Given the description of an element on the screen output the (x, y) to click on. 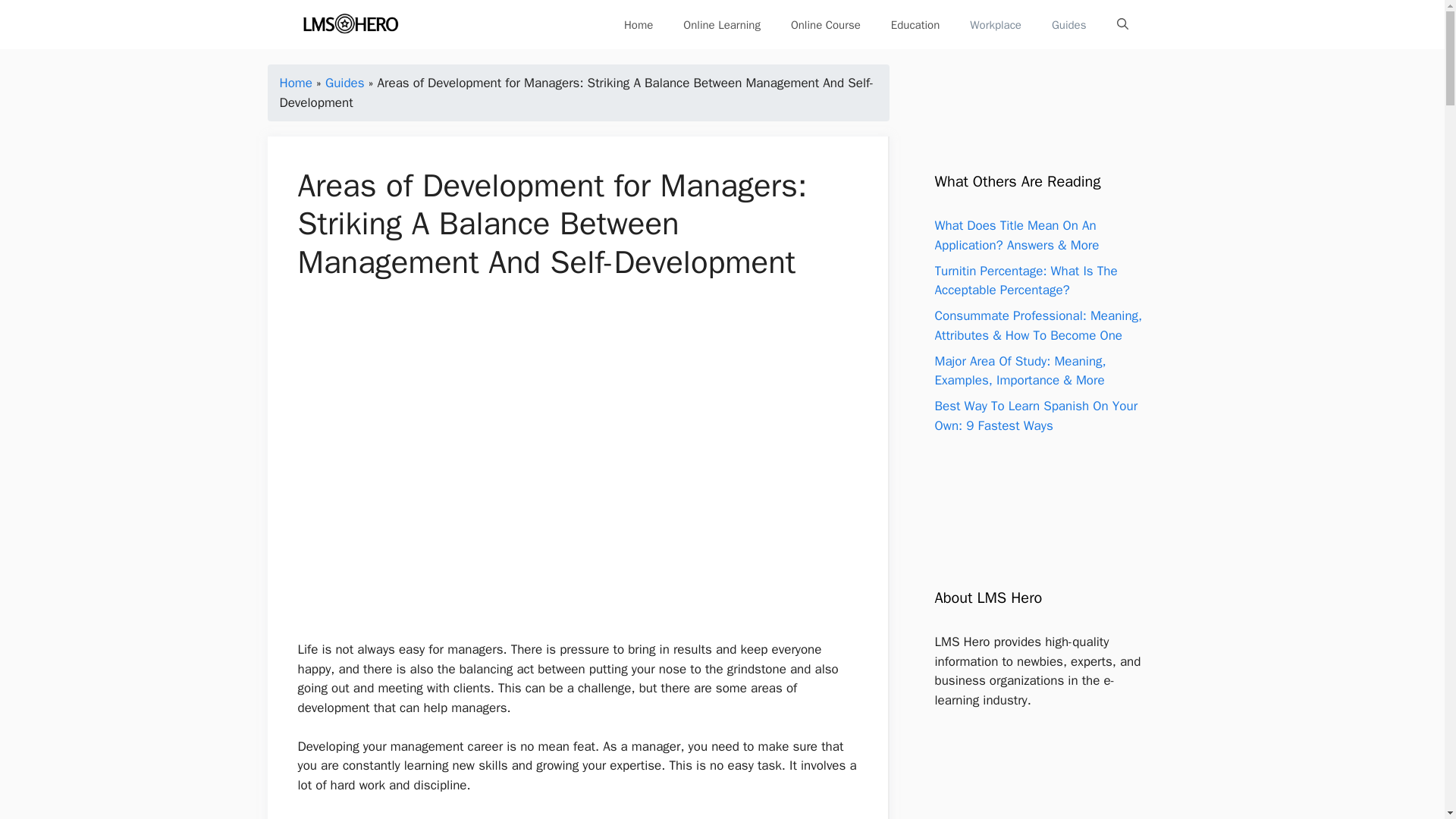
Online Course (826, 23)
Home (295, 82)
Guides (1069, 23)
Guides (344, 82)
LMS Hero (349, 24)
Workplace (995, 23)
Home (638, 23)
Online Learning (722, 23)
Education (915, 23)
